Given the description of an element on the screen output the (x, y) to click on. 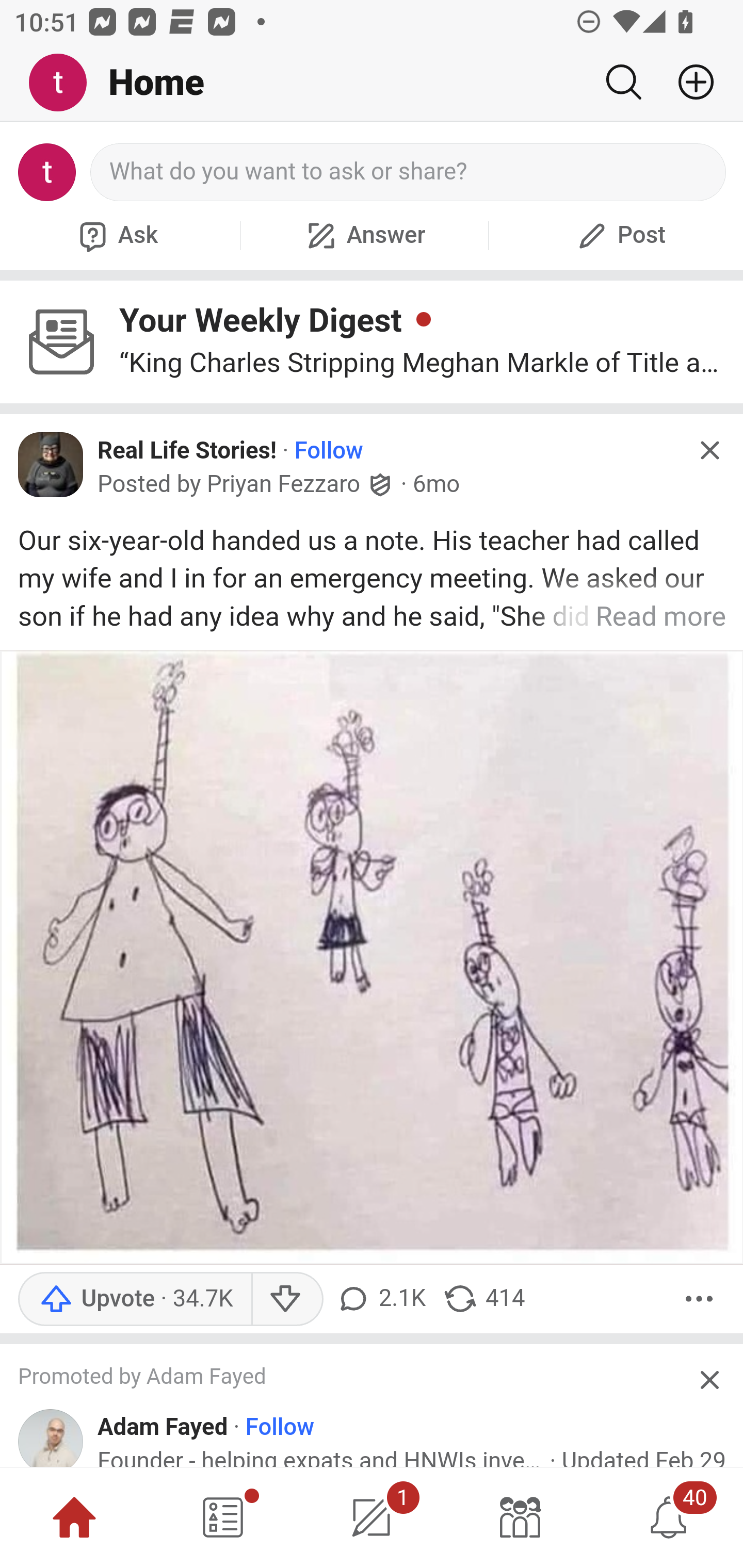
Me (64, 83)
Search (623, 82)
Add (688, 82)
What do you want to ask or share? (408, 172)
Ask (116, 234)
Answer (364, 234)
Post (618, 234)
Hide (709, 449)
Icon for Real Life Stories! (50, 465)
Real Life Stories! (187, 450)
Follow (328, 451)
Upvote (134, 1299)
Downvote (287, 1299)
2,161 comments (383, 1299)
414 shares (483, 1299)
More (699, 1299)
Hide (709, 1380)
Promoted by Adam Fayed (352, 1377)
Profile photo for Adam Fayed (50, 1437)
Adam Fayed (162, 1427)
Follow (279, 1427)
1 (371, 1517)
40 (668, 1517)
